Given the description of an element on the screen output the (x, y) to click on. 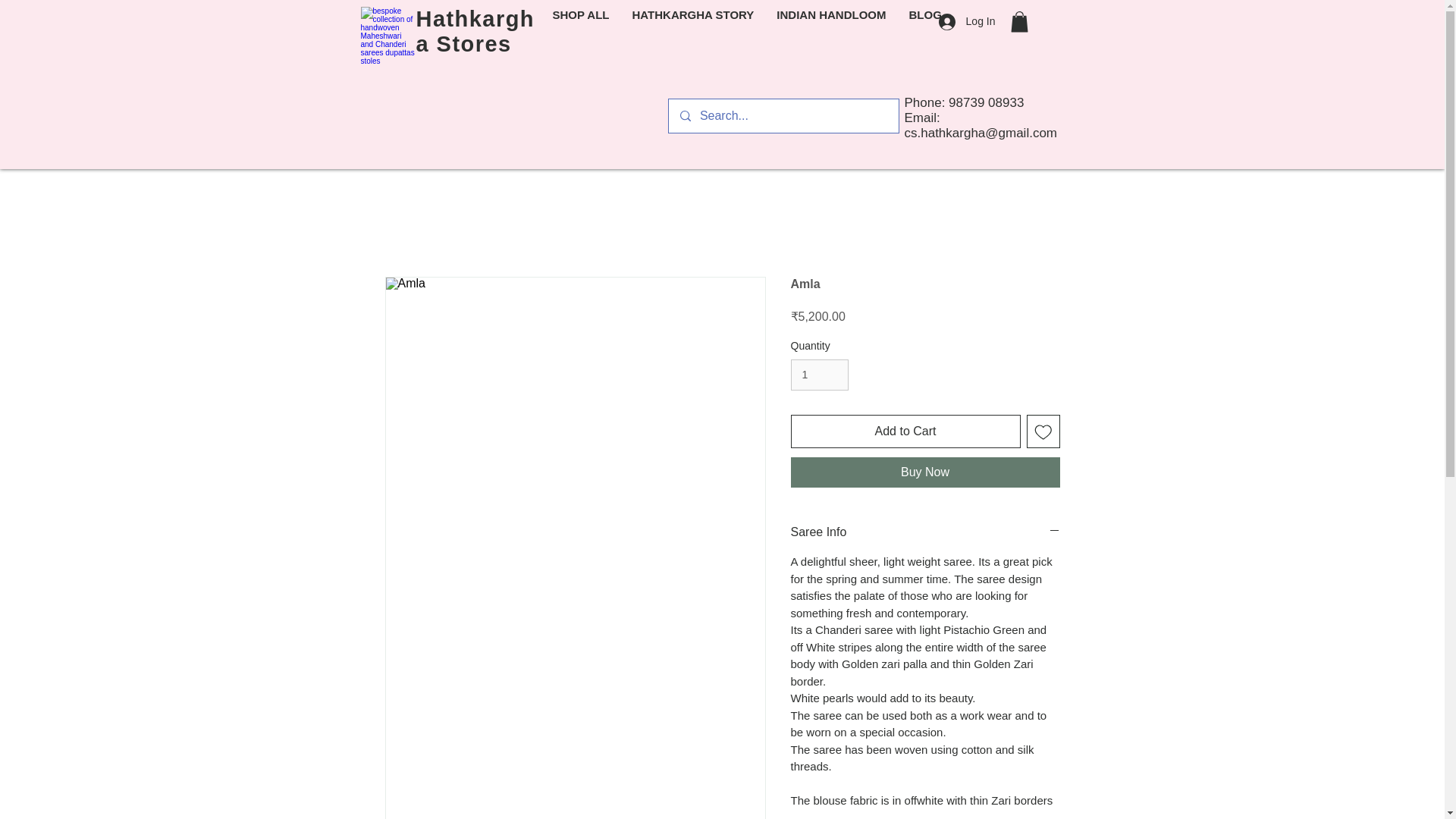
Add to Cart (905, 430)
SHOP ALL (581, 21)
Log In (967, 22)
INDIAN HANDLOOM (830, 21)
1 (818, 374)
Saree Info (924, 532)
Hathkargha Stores (474, 31)
HATHKARGHA STORY (693, 21)
BLOG (925, 21)
Buy Now (924, 472)
